Given the description of an element on the screen output the (x, y) to click on. 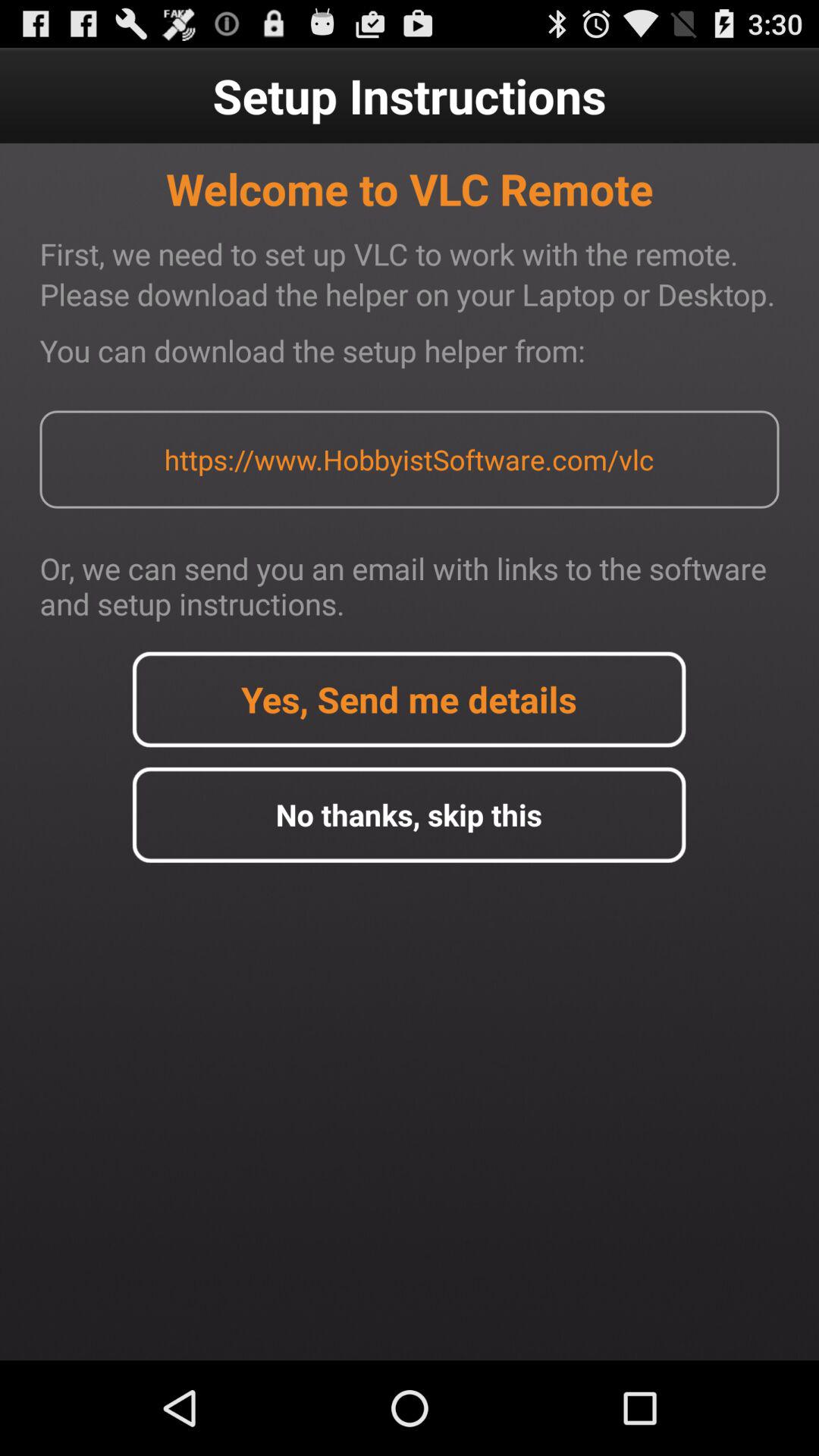
skip (408, 814)
